Given the description of an element on the screen output the (x, y) to click on. 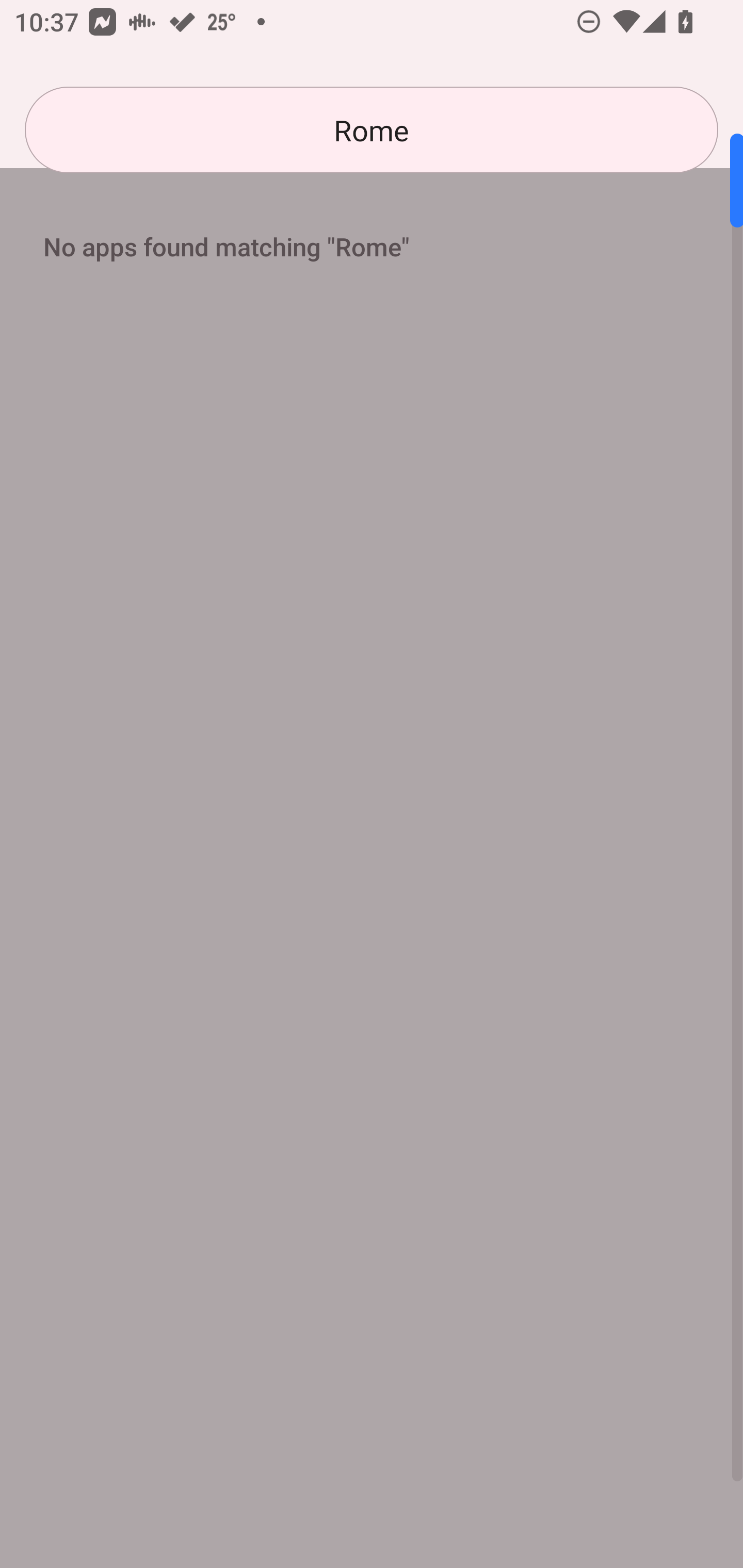
Rome (371, 130)
